Given the description of an element on the screen output the (x, y) to click on. 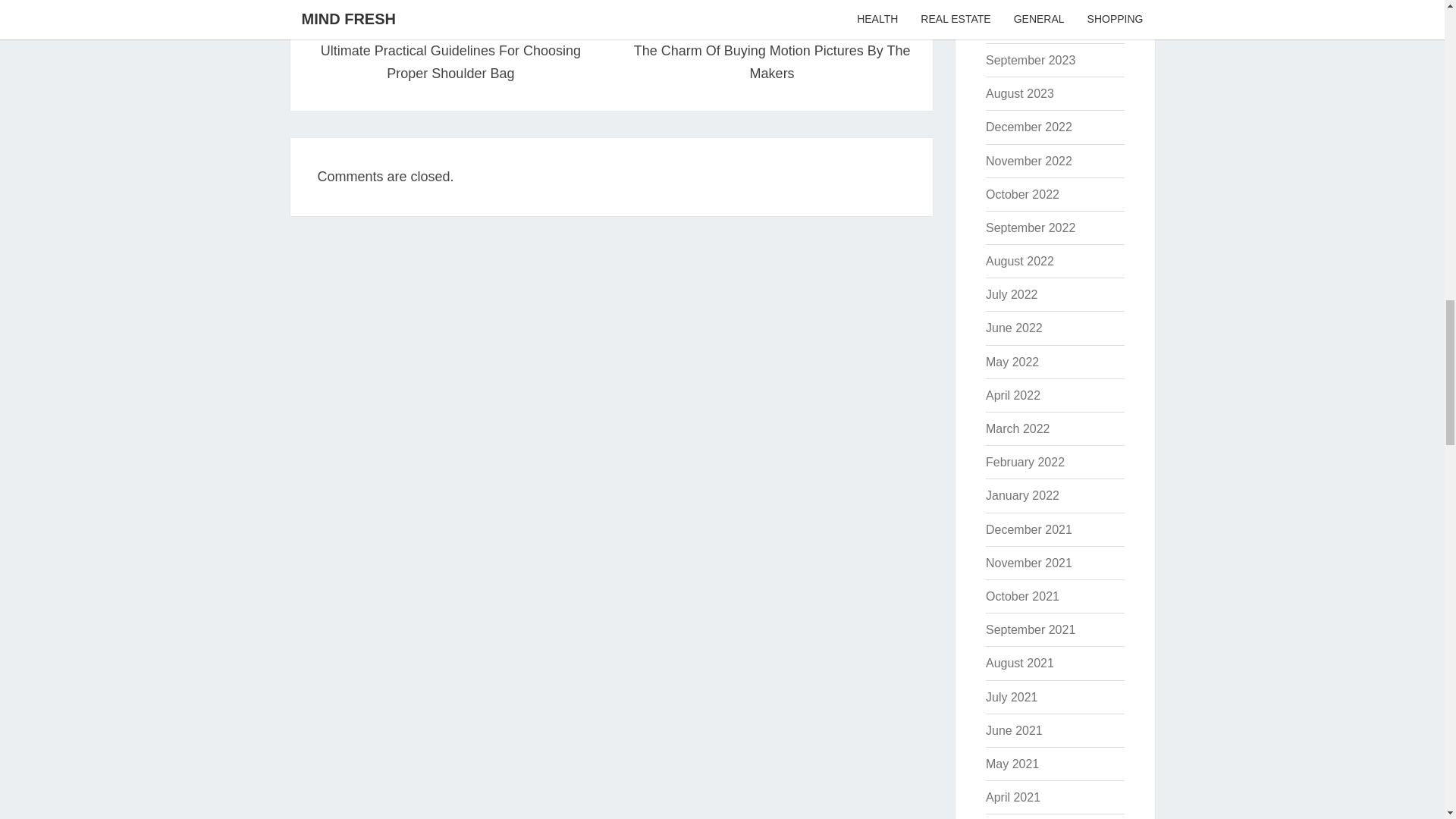
June 2022 (1013, 327)
April 2022 (1013, 395)
October 2023 (1022, 26)
July 2022 (1011, 294)
October 2022 (1022, 194)
December 2022 (1028, 126)
August 2022 (1019, 260)
August 2023 (1019, 92)
September 2022 (1030, 227)
